Given the description of an element on the screen output the (x, y) to click on. 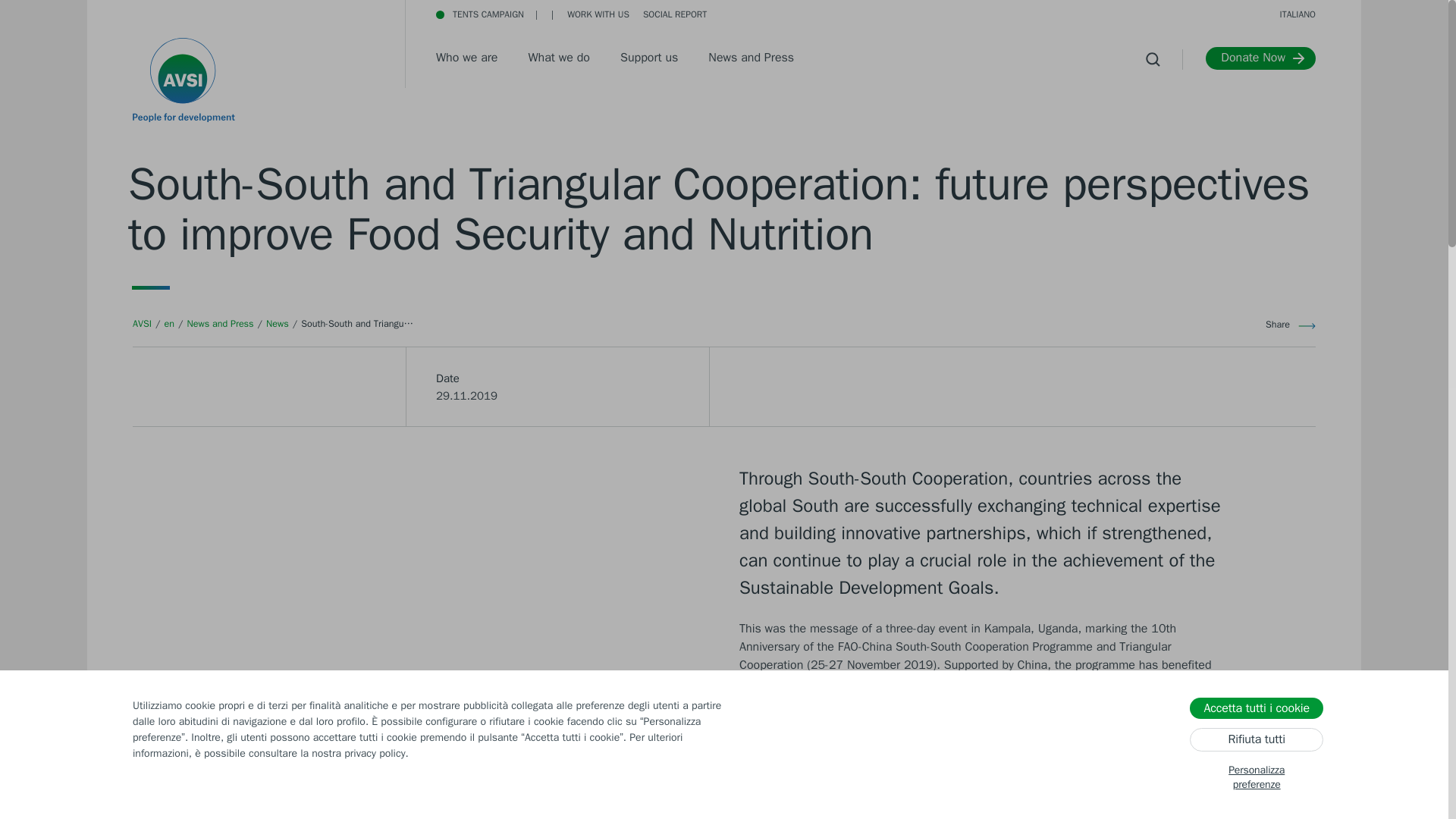
News and Press (750, 58)
What we do (558, 58)
Support us (649, 58)
WORK WITH US (597, 14)
ITALIANO (1297, 14)
SOCIAL REPORT (954, 14)
News (277, 322)
Donate Now (1260, 57)
AVSI (141, 322)
TENTS CAMPAIGN (479, 14)
News and Press (219, 322)
Who we are (466, 58)
